Given the description of an element on the screen output the (x, y) to click on. 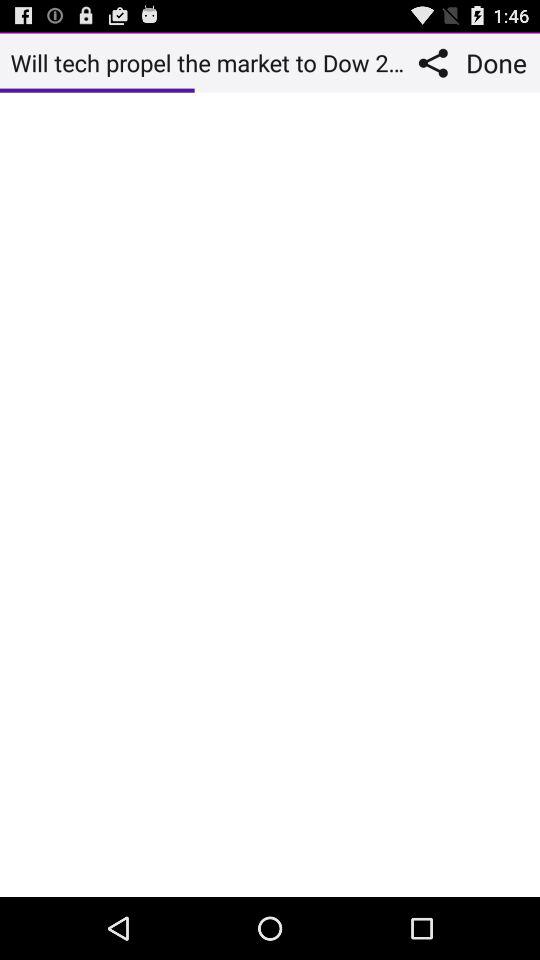
select the app to the right of will tech propel icon (438, 62)
